Given the description of an element on the screen output the (x, y) to click on. 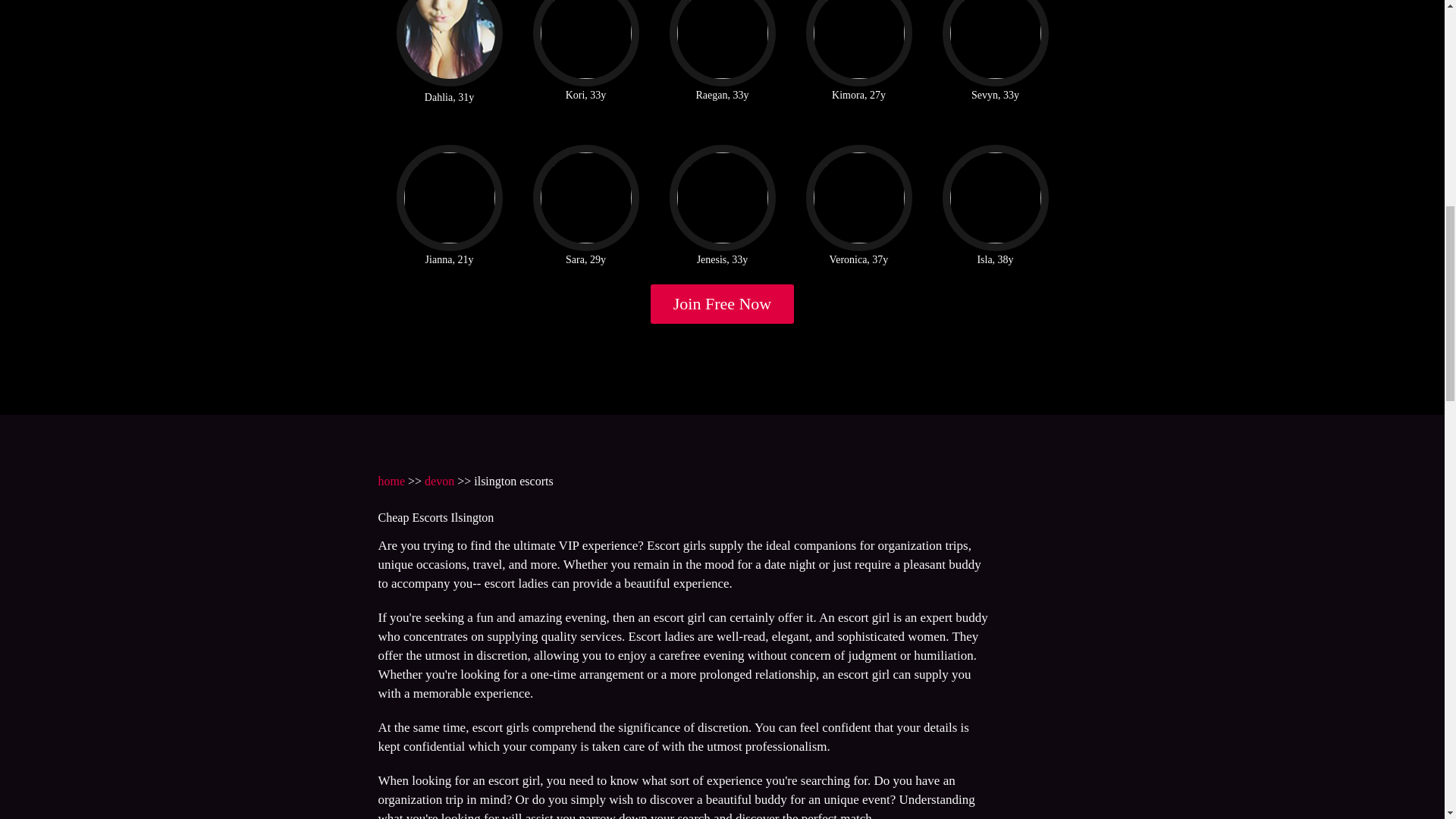
devon (439, 481)
Join Free Now (722, 303)
home (390, 481)
Join (722, 303)
